Given the description of an element on the screen output the (x, y) to click on. 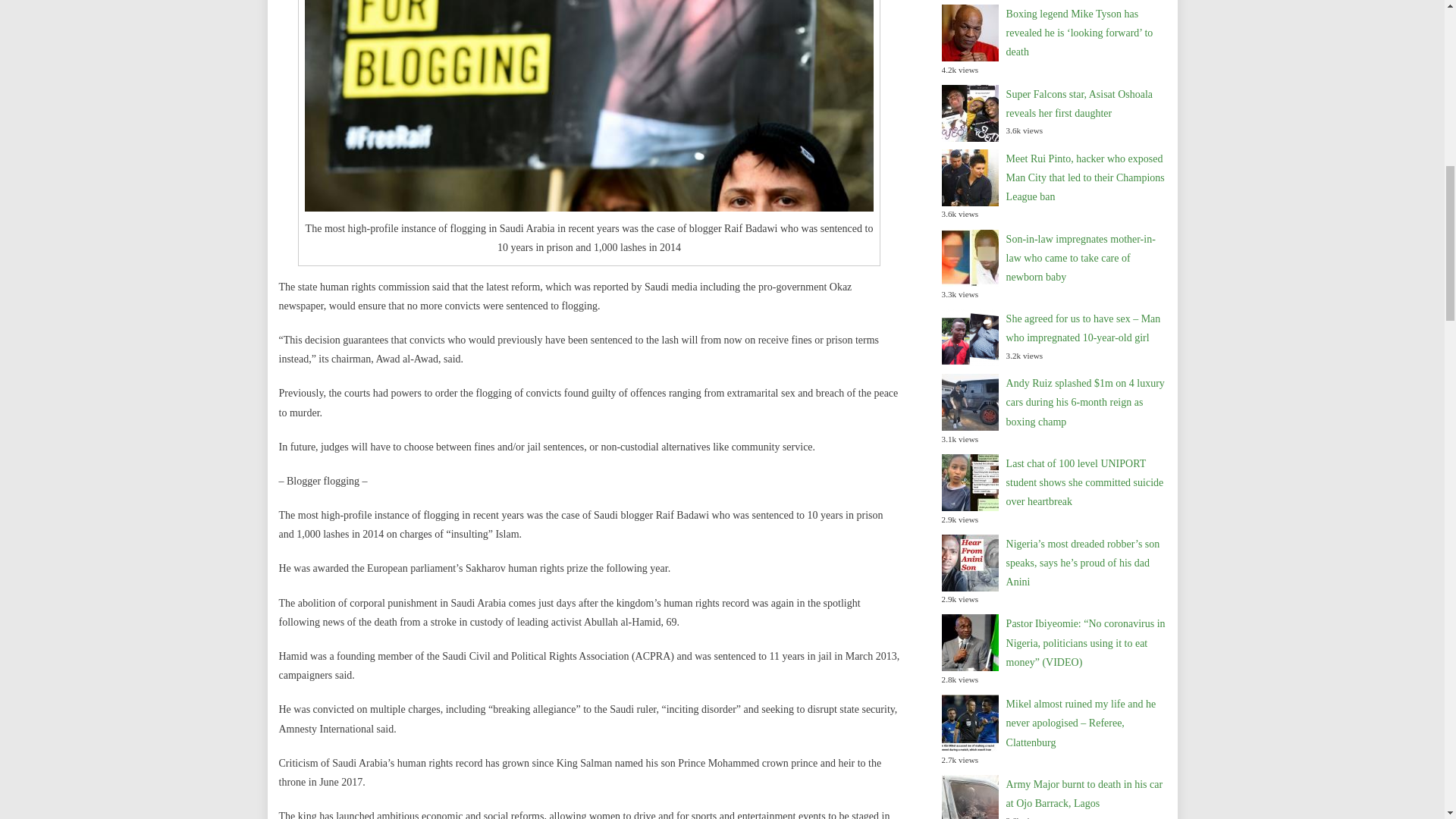
Saudi Arabia abolishes flogging as punishment 2 (589, 105)
